Given the description of an element on the screen output the (x, y) to click on. 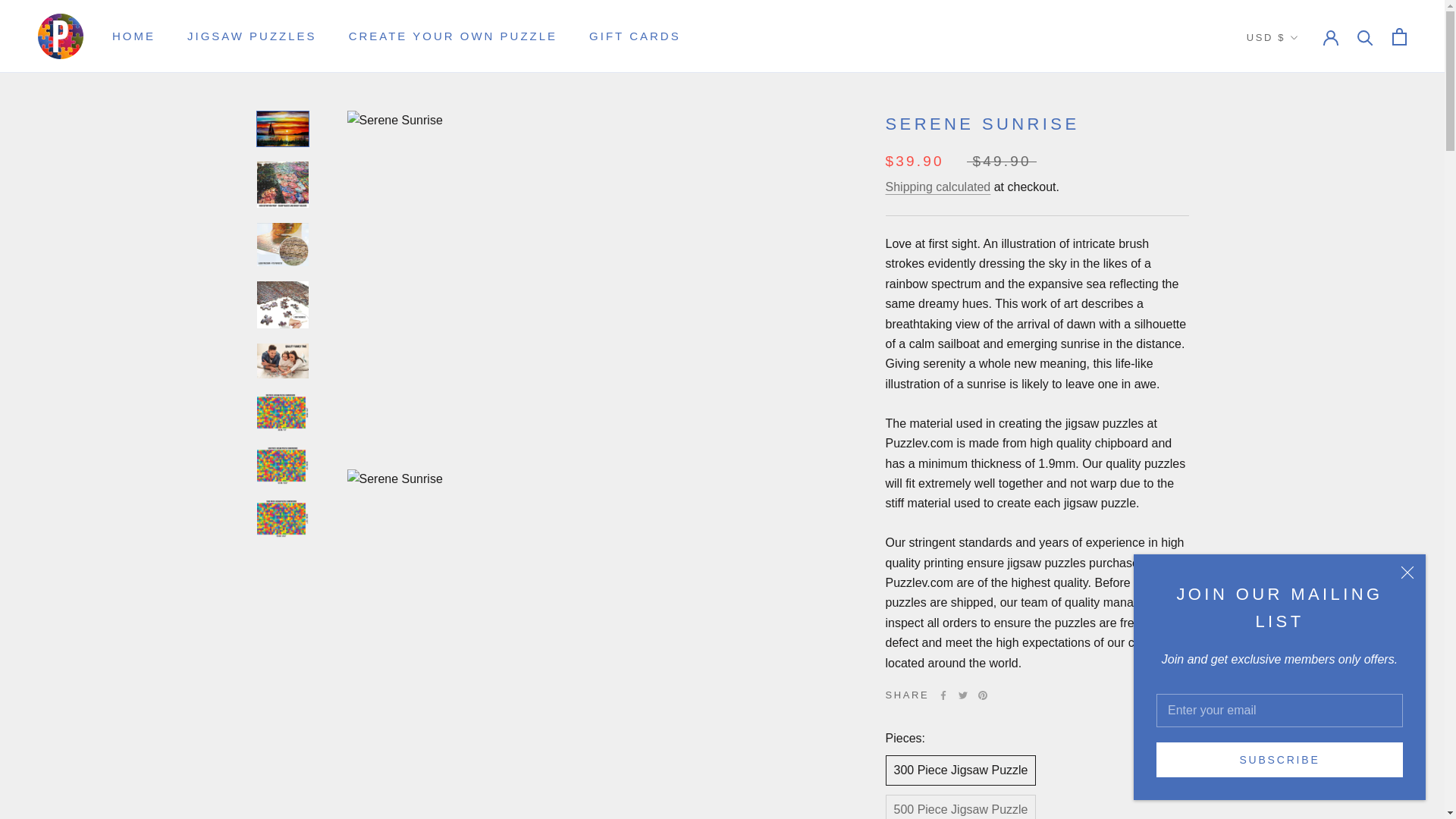
SUBSCRIBE (1279, 759)
